Given the description of an element on the screen output the (x, y) to click on. 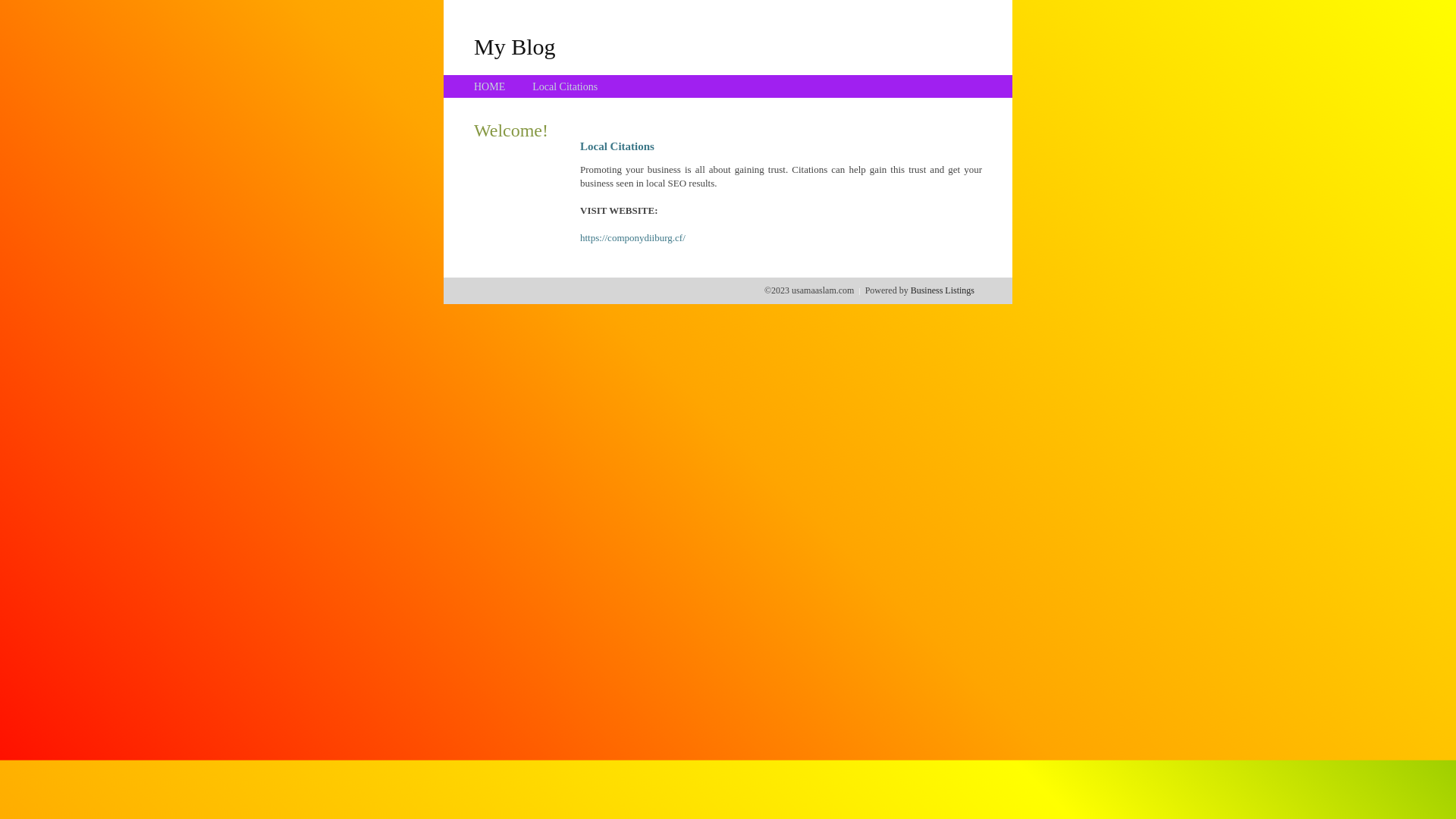
Business Listings Element type: text (942, 290)
My Blog Element type: text (514, 46)
HOME Element type: text (489, 86)
Local Citations Element type: text (564, 86)
https://componydiiburg.cf/ Element type: text (632, 237)
